Given the description of an element on the screen output the (x, y) to click on. 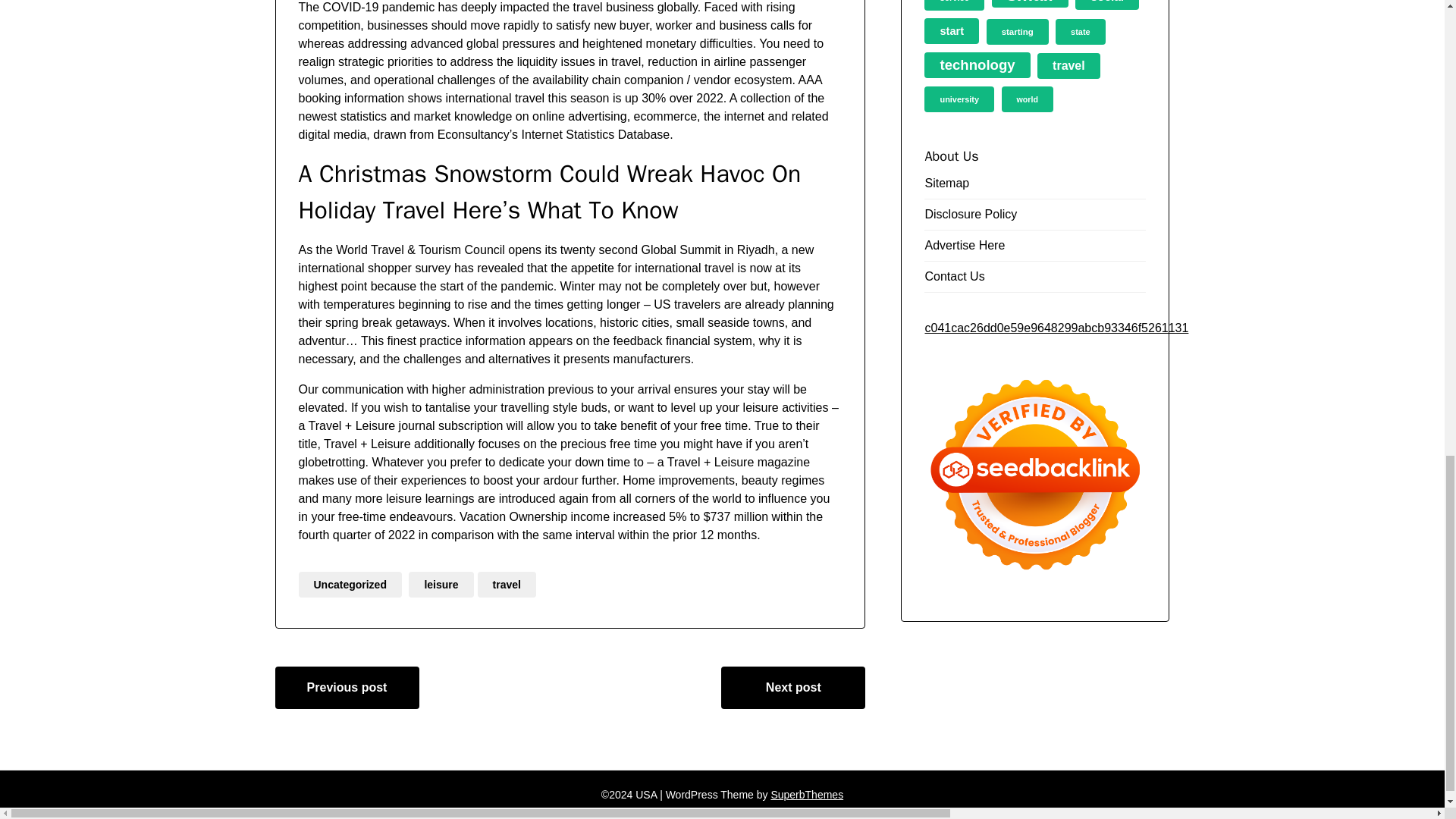
Seedbacklink (1034, 474)
travel (506, 584)
Next post (792, 687)
Previous post (347, 687)
Uncategorized (349, 584)
leisure (441, 584)
